Given the description of an element on the screen output the (x, y) to click on. 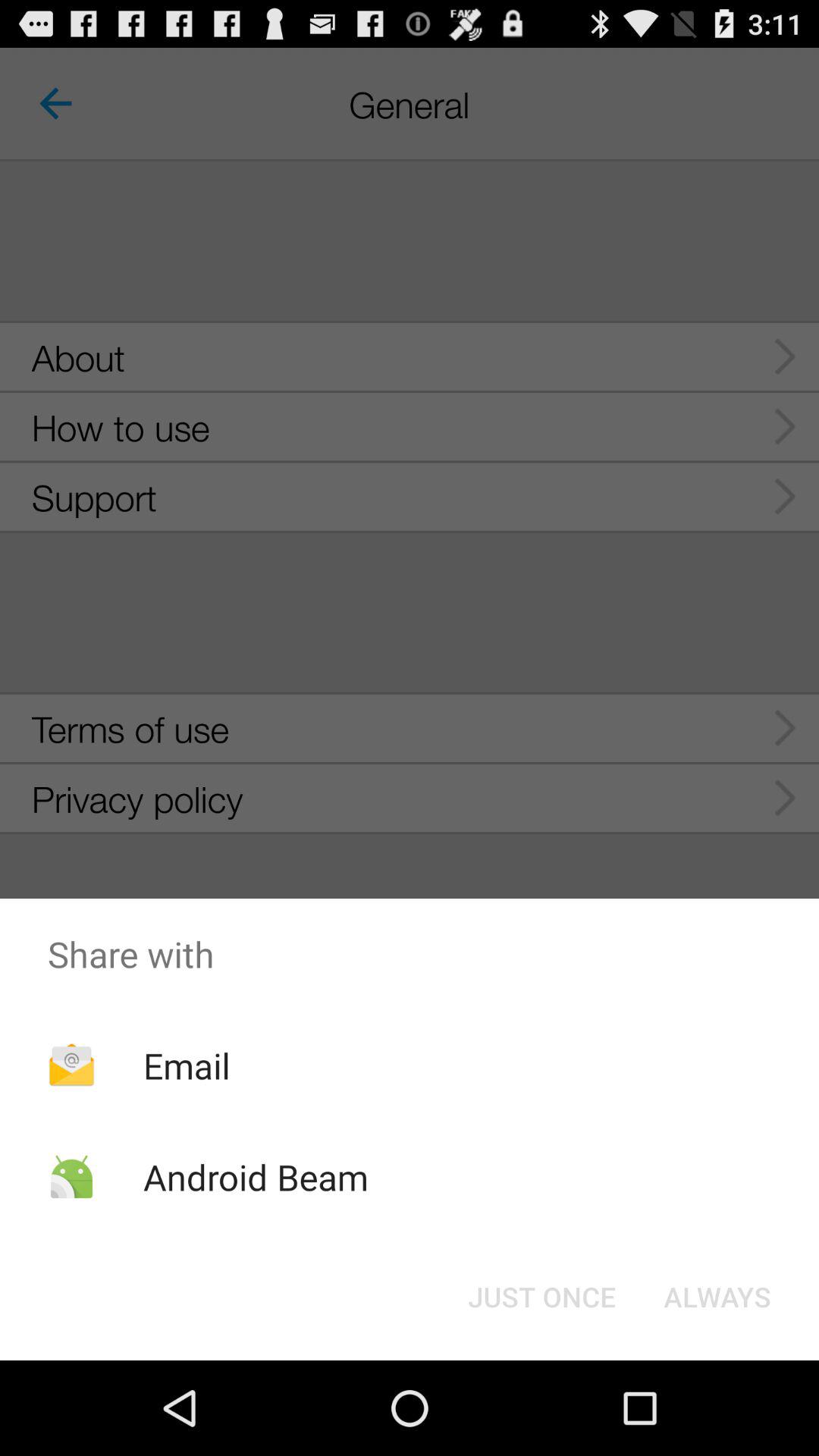
swipe to the android beam icon (255, 1176)
